Given the description of an element on the screen output the (x, y) to click on. 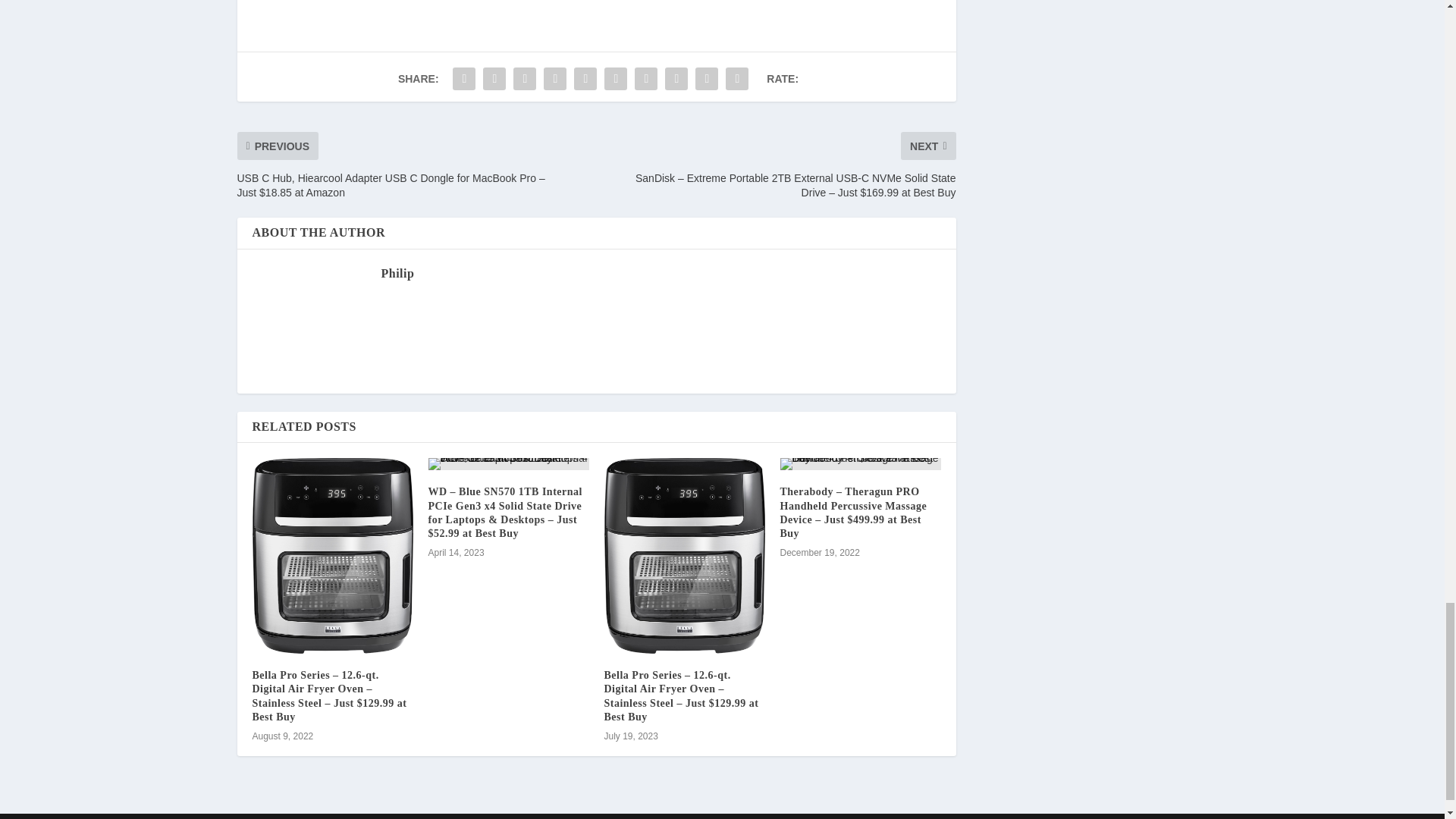
Philip (396, 273)
